Given the description of an element on the screen output the (x, y) to click on. 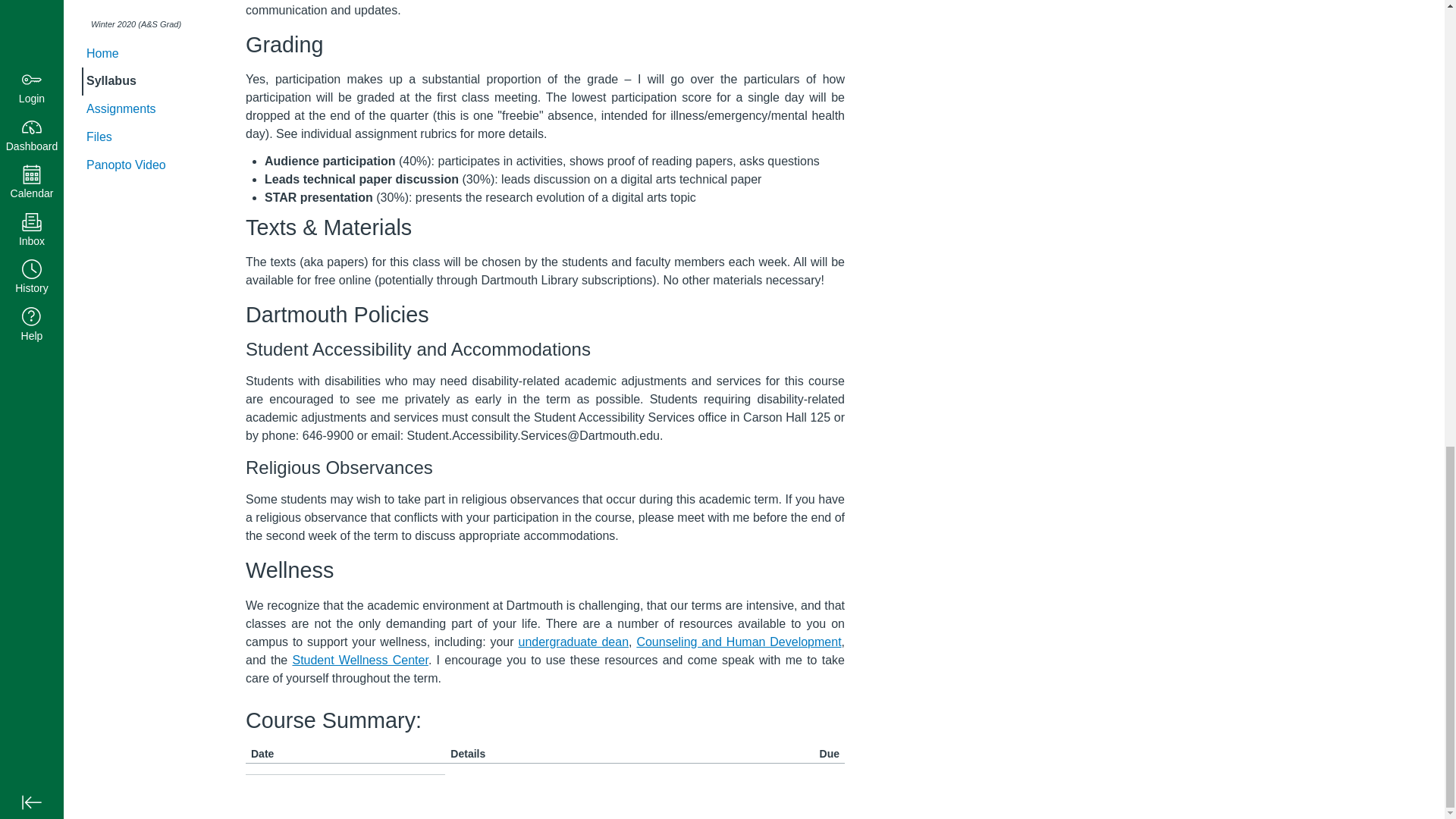
Student Wellness Center (360, 659)
undergraduate dean (573, 641)
Counseling and Human Development (738, 641)
